Given the description of an element on the screen output the (x, y) to click on. 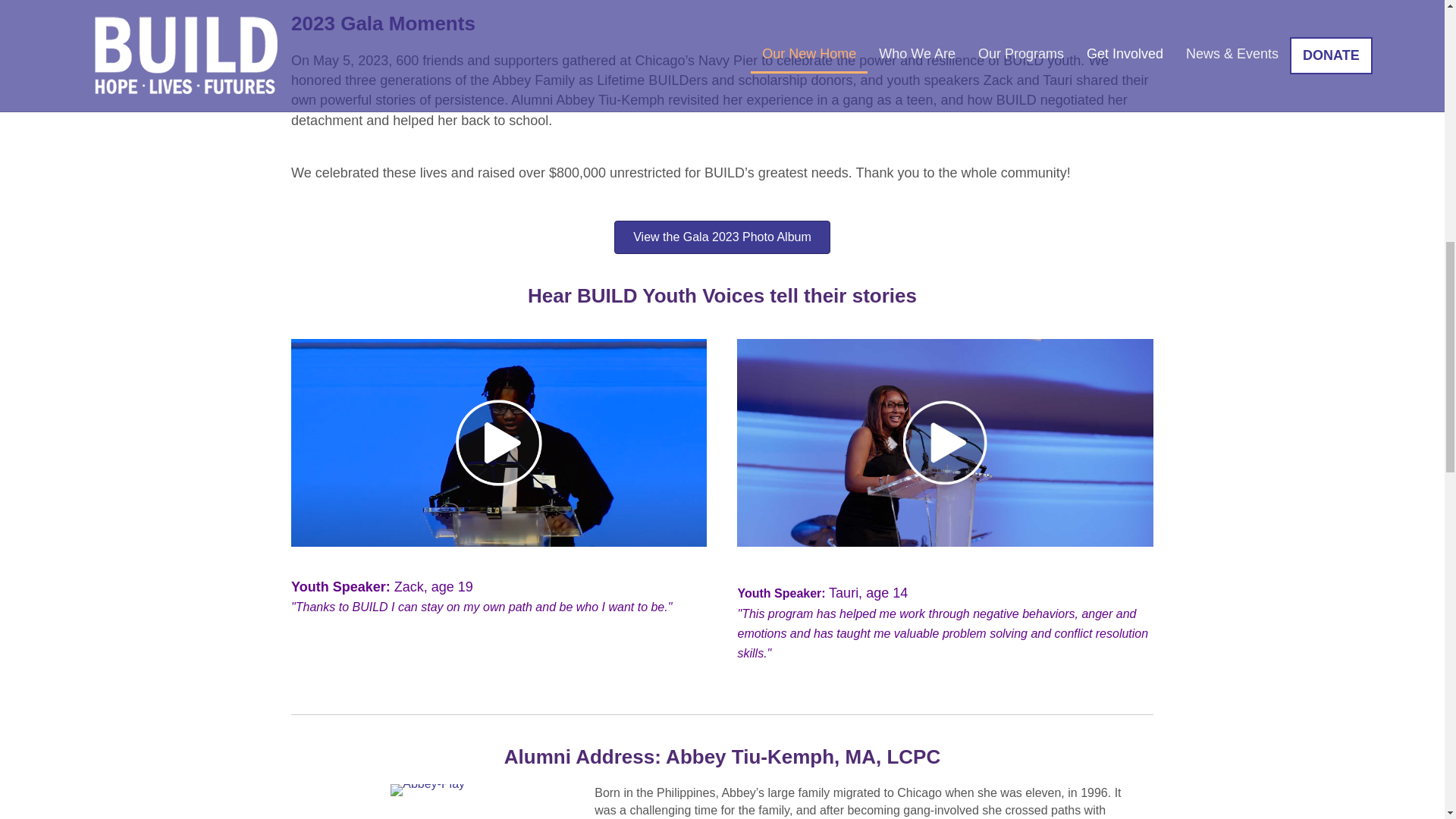
Abbey-Play (427, 789)
View the Gala 2023 Photo Album (721, 236)
Zach Play (498, 443)
